Given the description of an element on the screen output the (x, y) to click on. 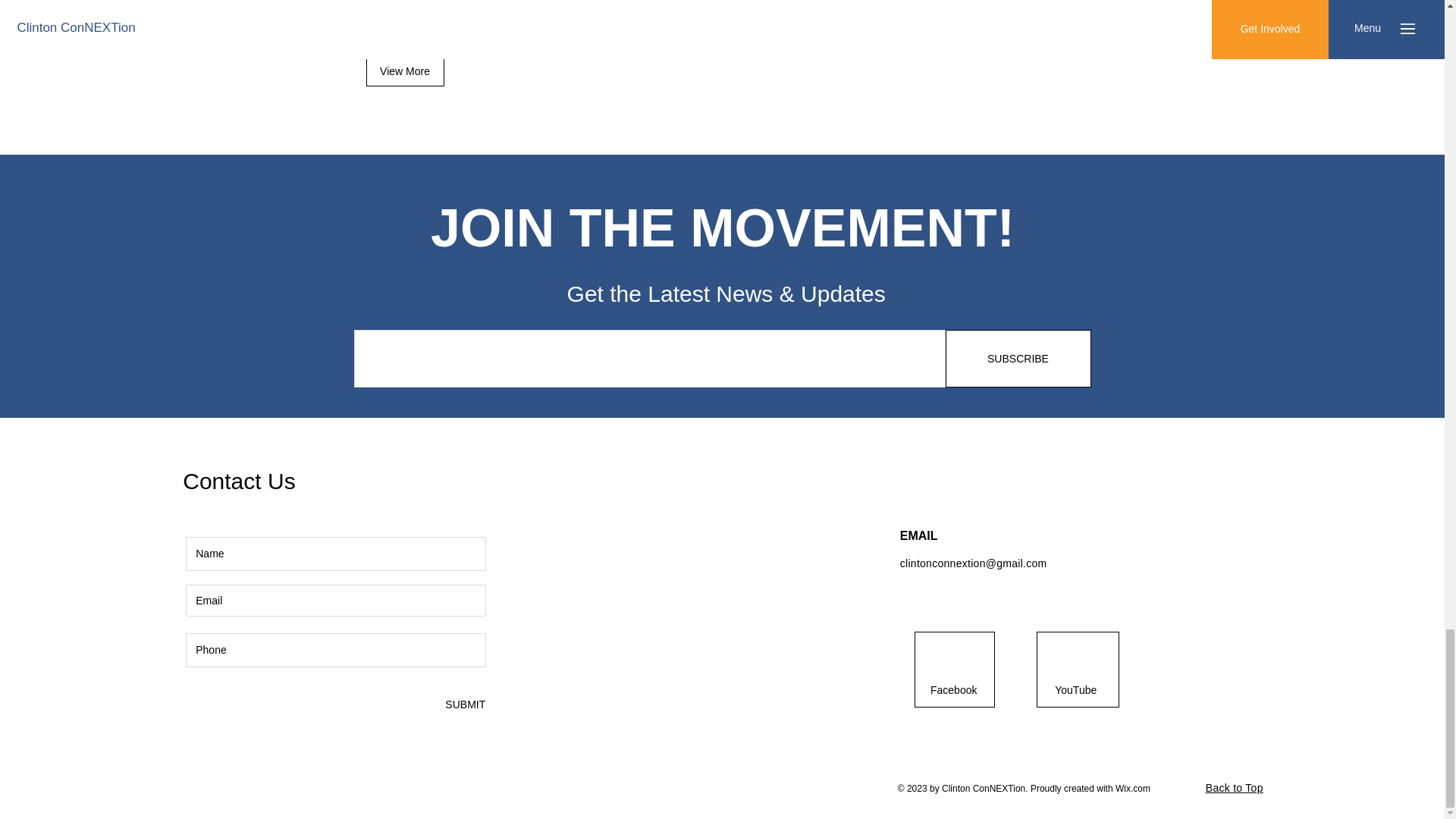
Back to Top (1234, 787)
SUBSCRIBE (1017, 358)
Facebook (954, 689)
Wix.com (1132, 787)
SUBMIT (404, 71)
YouTube (464, 704)
0 (1075, 689)
